Given the description of an element on the screen output the (x, y) to click on. 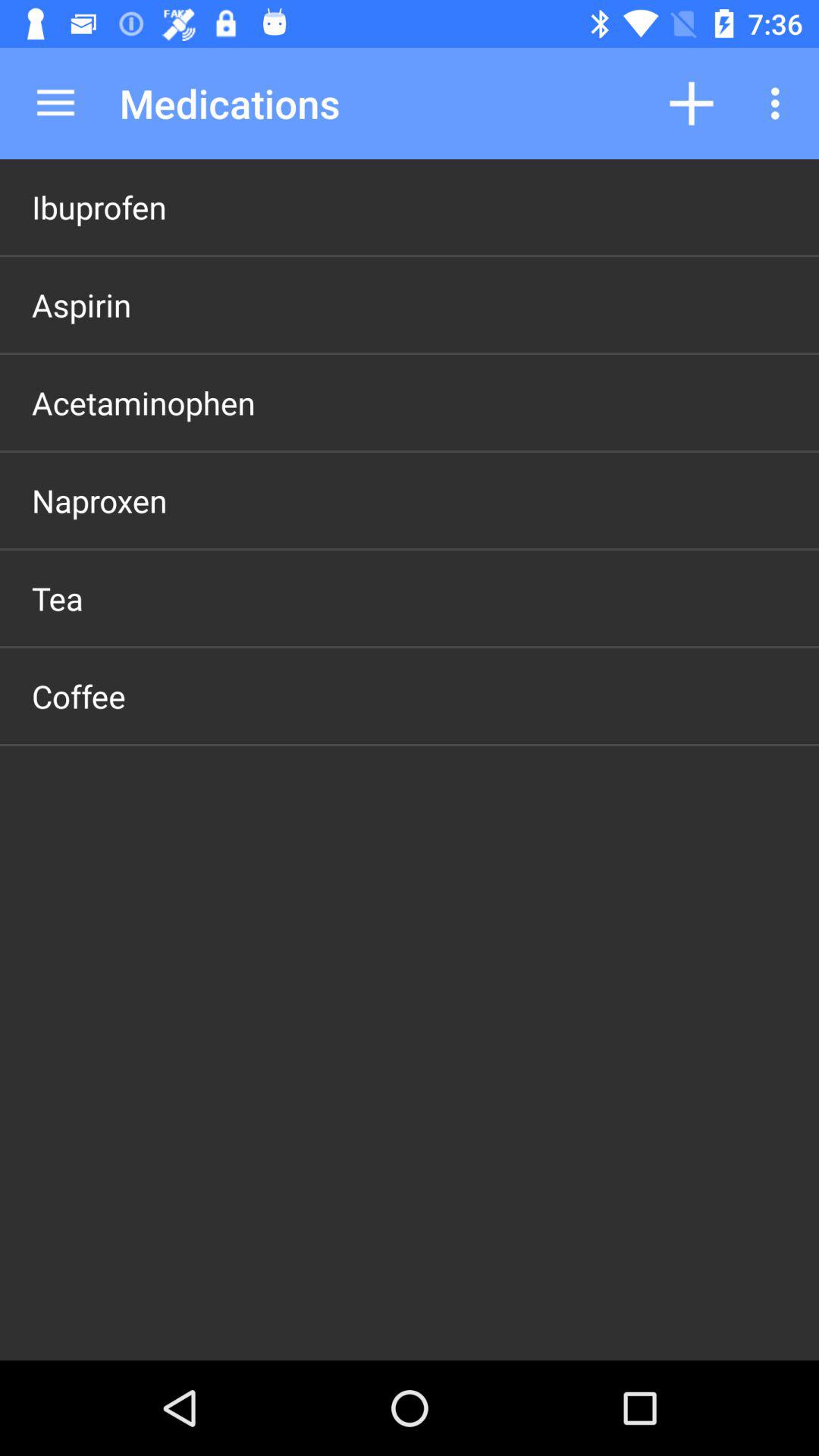
tap the acetaminophen icon (143, 402)
